Given the description of an element on the screen output the (x, y) to click on. 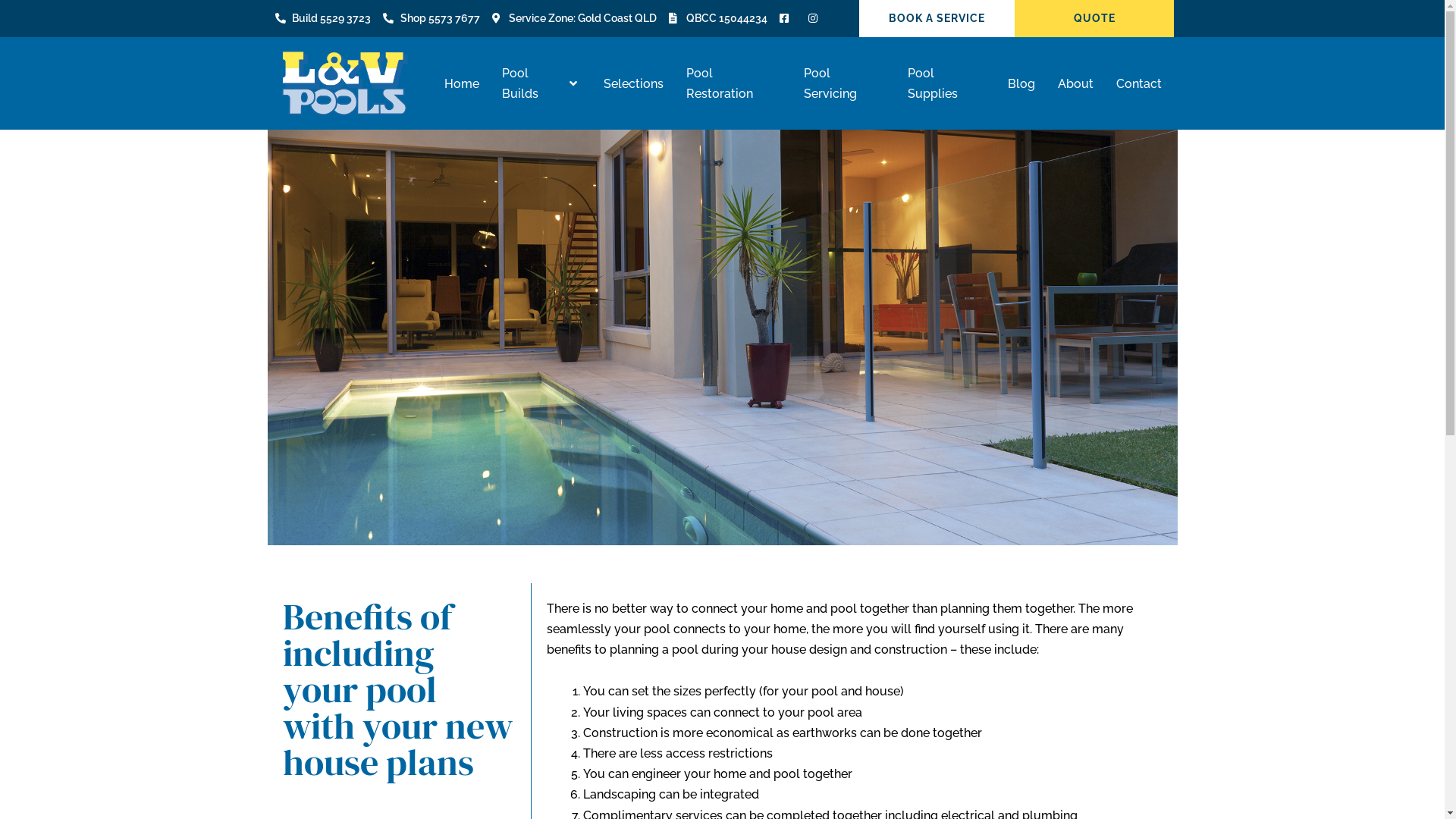
Pool Builds Element type: text (541, 83)
QUOTE Element type: text (1093, 18)
Contact Element type: text (1138, 83)
Pool Supplies Element type: text (946, 83)
Pool Restoration Element type: text (732, 83)
BOOK A SERVICE Element type: text (936, 18)
Service Zone: Gold Coast QLD Element type: text (573, 18)
Build 5529 3723 Element type: text (322, 18)
Shop 5573 7677 Element type: text (431, 18)
Selections Element type: text (633, 83)
About Element type: text (1075, 83)
Pool Servicing Element type: text (844, 83)
Home Element type: text (461, 83)
Blog Element type: text (1021, 83)
